Given the description of an element on the screen output the (x, y) to click on. 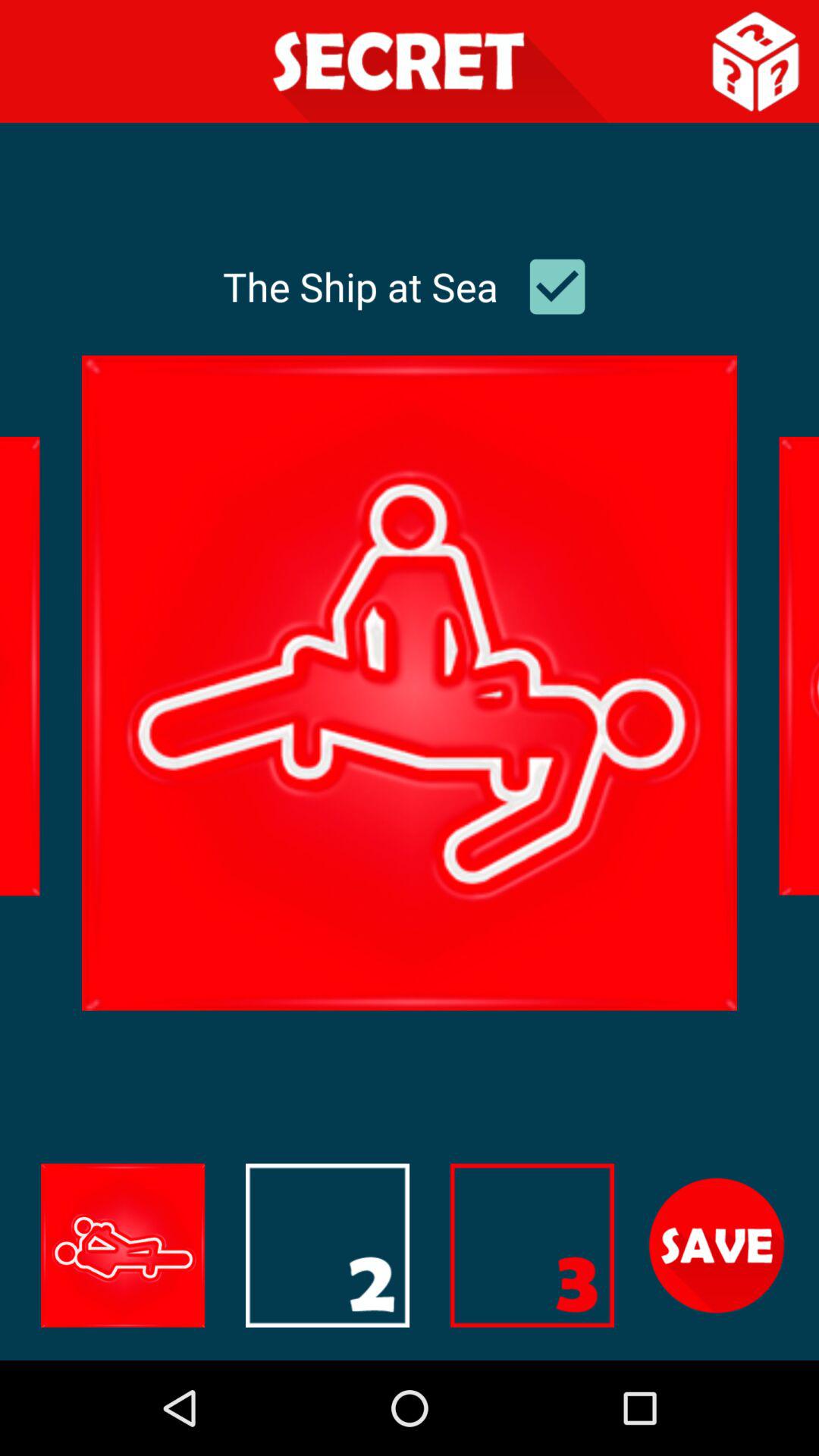
checkmark box (557, 286)
